Given the description of an element on the screen output the (x, y) to click on. 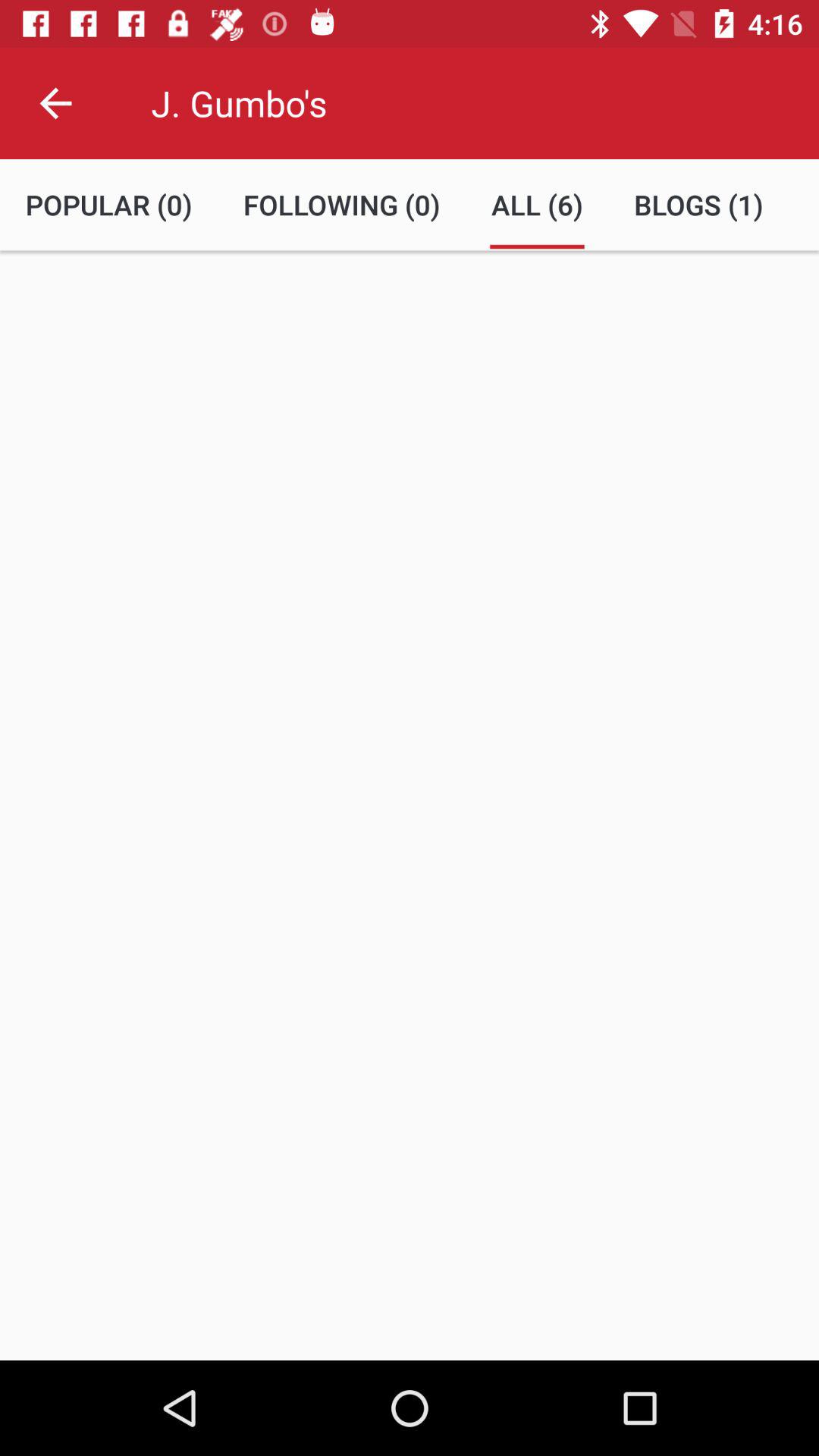
launch item to the left of blogs (1) icon (536, 204)
